Given the description of an element on the screen output the (x, y) to click on. 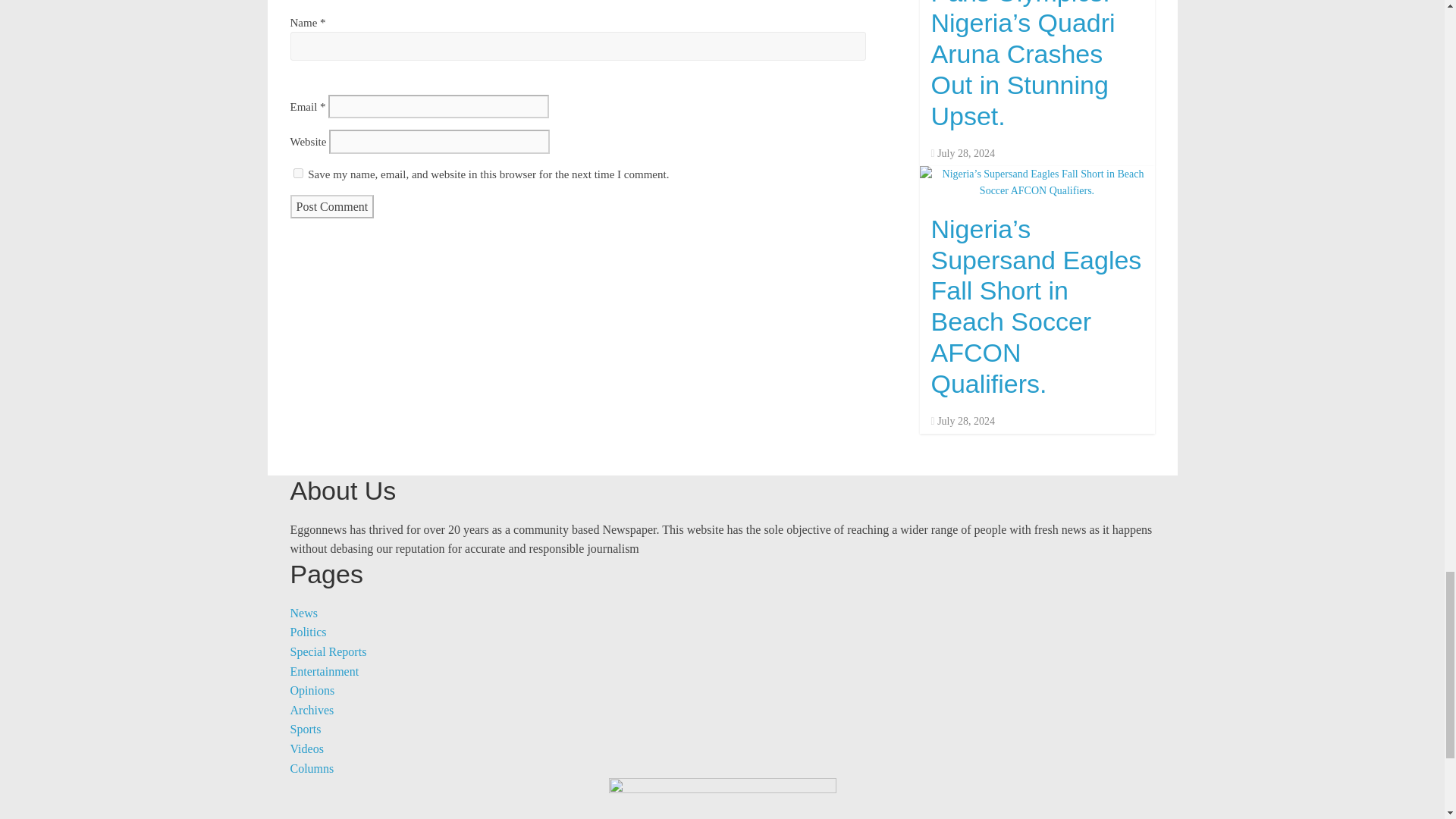
Post Comment (331, 206)
yes (297, 173)
